Given the description of an element on the screen output the (x, y) to click on. 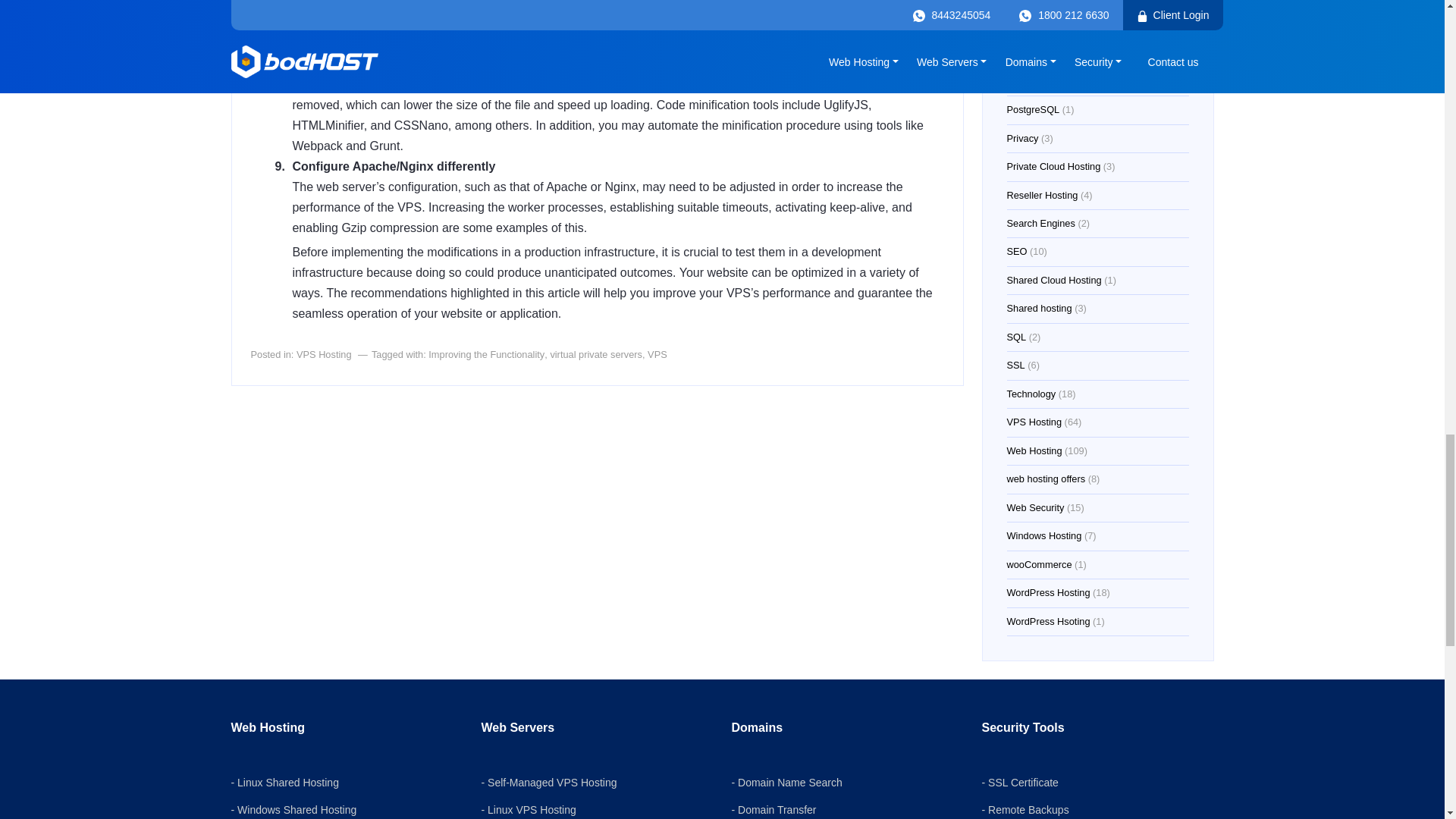
VPS Hosting (324, 354)
virtual private servers (596, 354)
Improving the Functionality (486, 354)
VPS (656, 354)
